Given the description of an element on the screen output the (x, y) to click on. 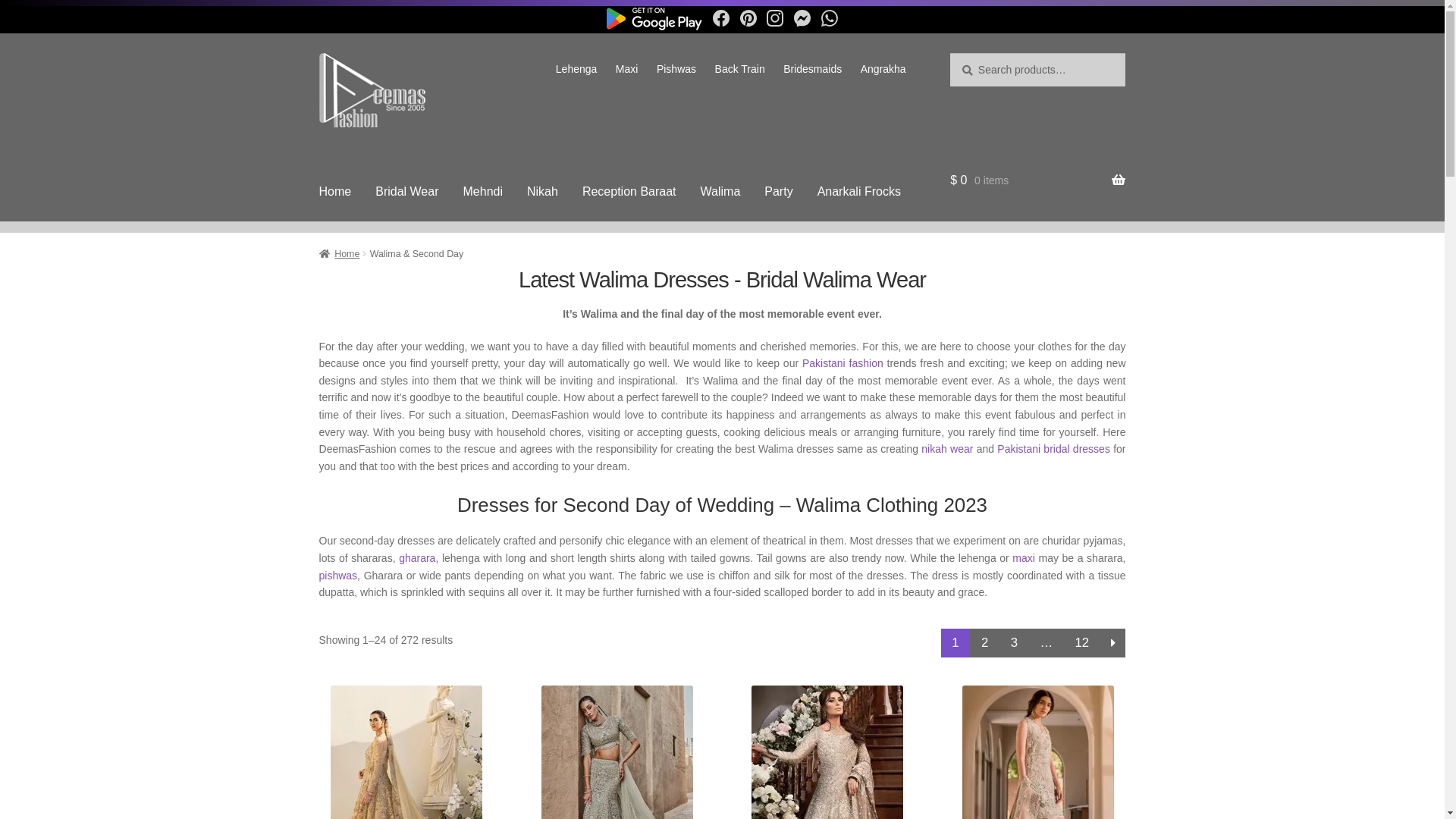
Party Element type: text (778, 191)
2 Element type: text (984, 642)
Angrakha Element type: text (882, 68)
Nikah Element type: text (542, 191)
Lehenga Element type: text (576, 68)
Home Element type: text (335, 191)
Walima Element type: text (720, 191)
Search Element type: text (949, 52)
3 Element type: text (1014, 642)
Home Element type: text (339, 253)
Reception Baraat Element type: text (629, 191)
Bridesmaids Element type: text (812, 68)
Bridal Wear Element type: text (406, 191)
Skip to navigation Element type: text (318, 52)
$ 0 0 items Element type: text (1037, 180)
gharara Element type: text (416, 558)
Maxi Element type: text (626, 68)
Anarkali Frocks Element type: text (859, 191)
Pakistani bridal dresses Element type: text (1053, 448)
maxi Element type: text (1023, 558)
nikah wear Element type: text (946, 448)
pishwas Element type: text (338, 575)
Pakistani fashion Element type: text (842, 363)
Back Train Element type: text (739, 68)
Pishwas Element type: text (676, 68)
Mehndi Element type: text (482, 191)
12 Element type: text (1081, 642)
